Given the description of an element on the screen output the (x, y) to click on. 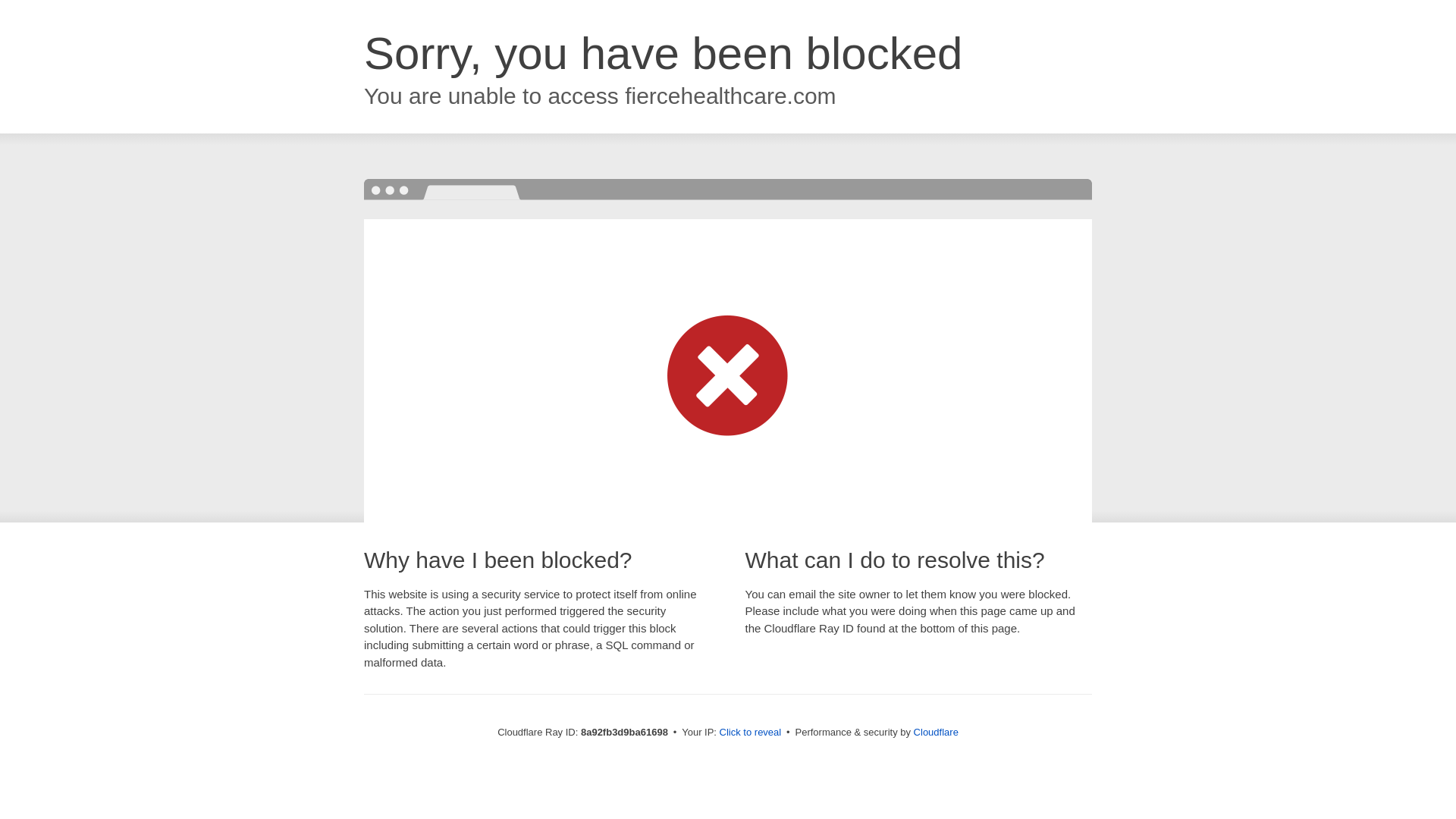
Click to reveal (750, 732)
Cloudflare (936, 731)
